Given the description of an element on the screen output the (x, y) to click on. 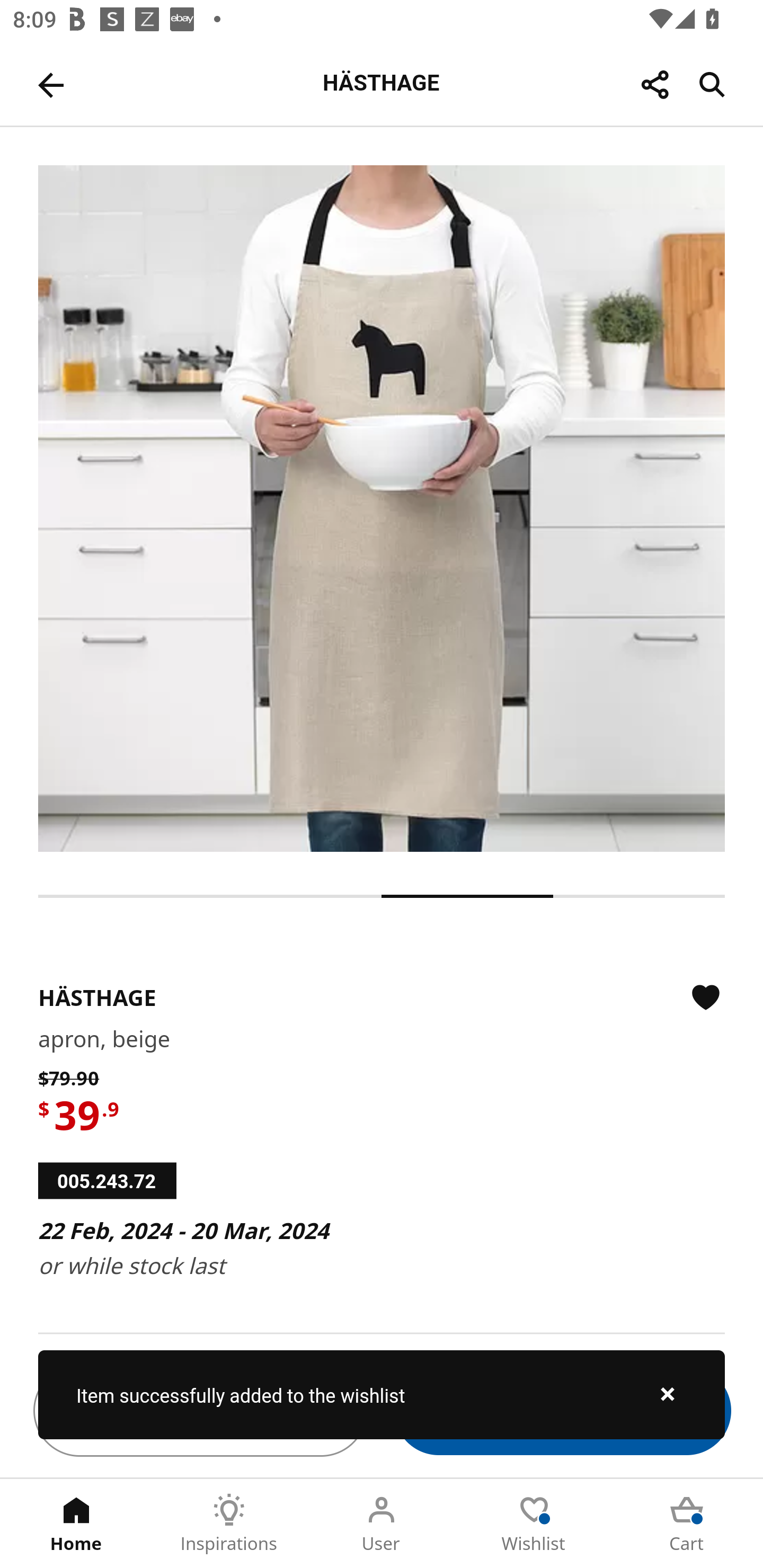
Home
Tab 1 of 5 (76, 1522)
Inspirations
Tab 2 of 5 (228, 1522)
User
Tab 3 of 5 (381, 1522)
Wishlist
Tab 4 of 5 (533, 1522)
Cart
Tab 5 of 5 (686, 1522)
